Given the description of an element on the screen output the (x, y) to click on. 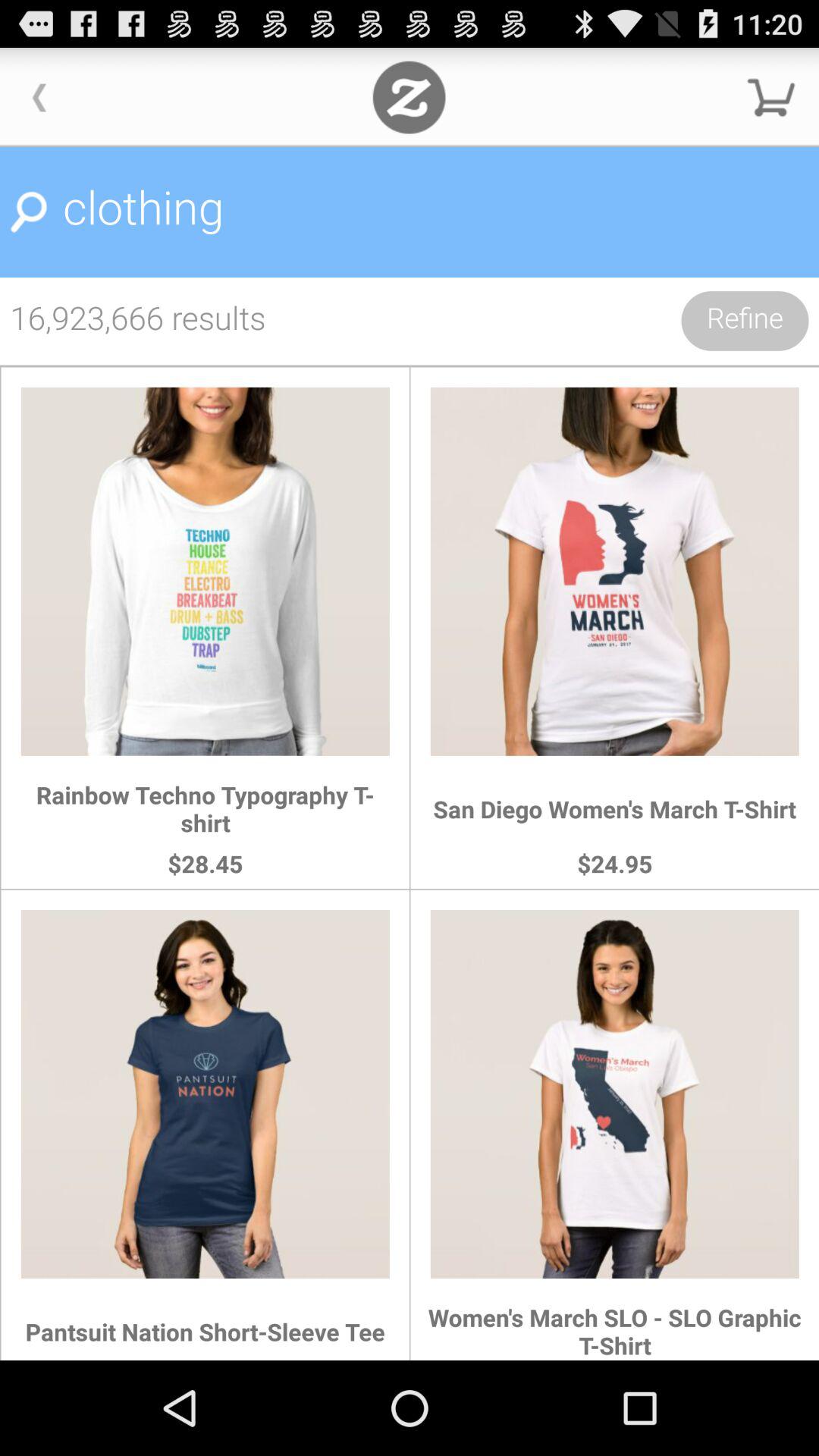
click the icon above the refine item (409, 212)
